Given the description of an element on the screen output the (x, y) to click on. 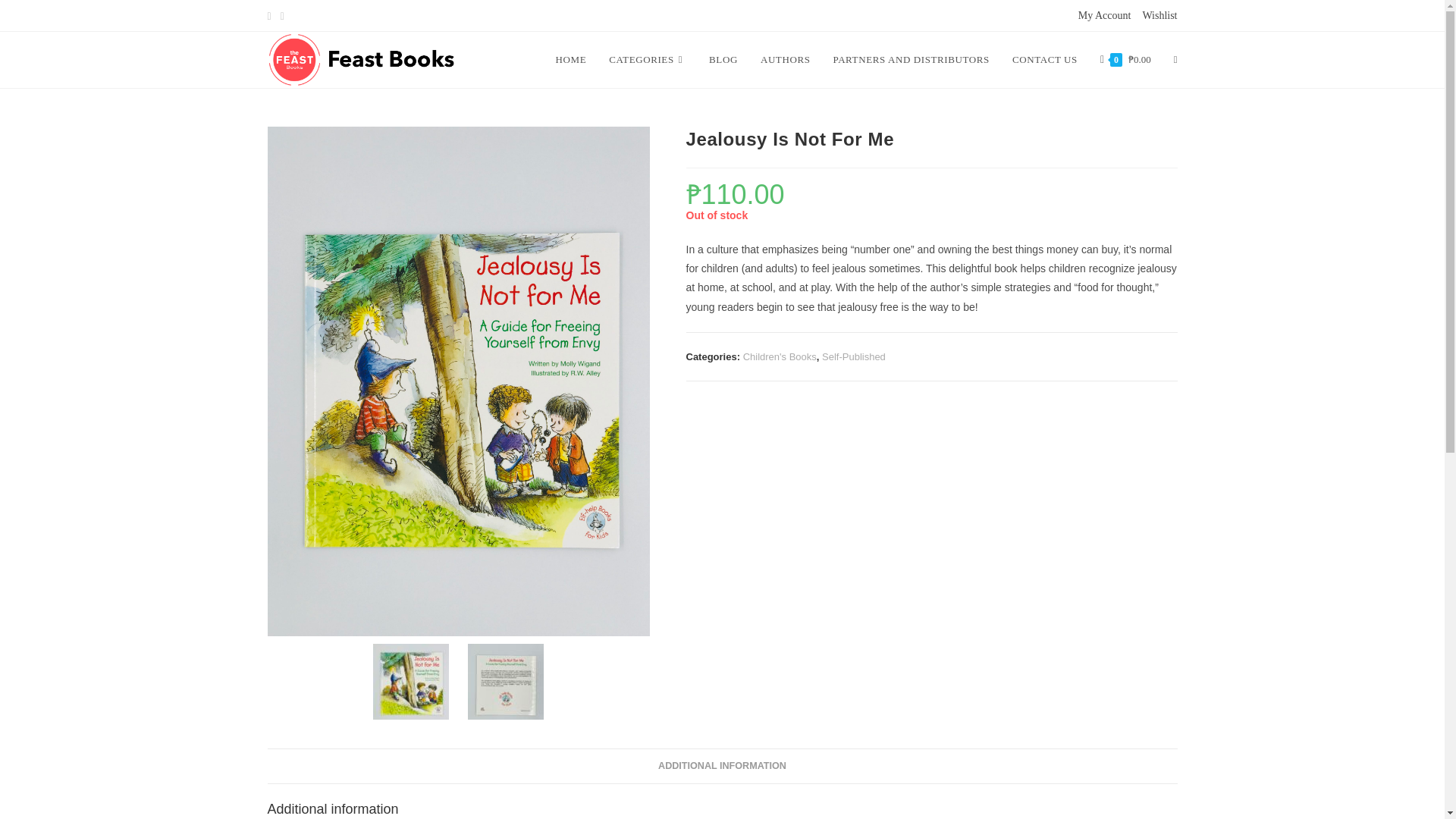
AUTHORS (785, 59)
My Account (1104, 15)
Jealousy is not for Me FRONT.JPG (410, 681)
CONTACT US (1045, 59)
Wishlist (1158, 15)
Jealousy is not for me BACK.JPG (505, 681)
HOME (571, 59)
CATEGORIES (646, 59)
PARTNERS AND DISTRIBUTORS (911, 59)
BLOG (723, 59)
